Given the description of an element on the screen output the (x, y) to click on. 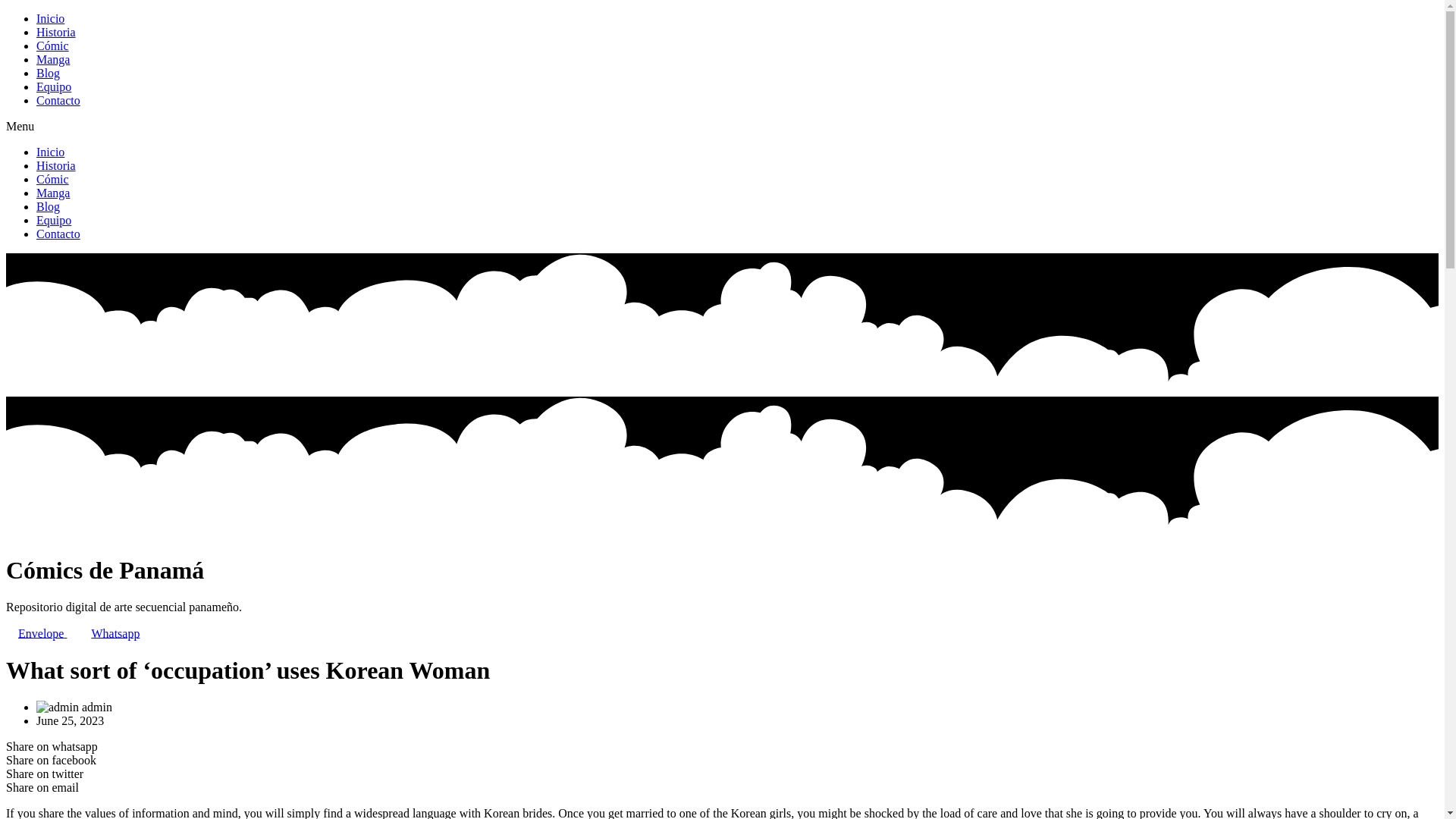
Historia (55, 164)
Equipo (53, 86)
Manga (52, 192)
Equipo (53, 219)
Contacto (58, 100)
Historia (55, 31)
Blog (47, 205)
Contacto (58, 233)
Envelope (41, 633)
Inicio (50, 151)
Inicio (50, 18)
Whatsapp (114, 633)
Blog (47, 72)
Manga (52, 59)
